Given the description of an element on the screen output the (x, y) to click on. 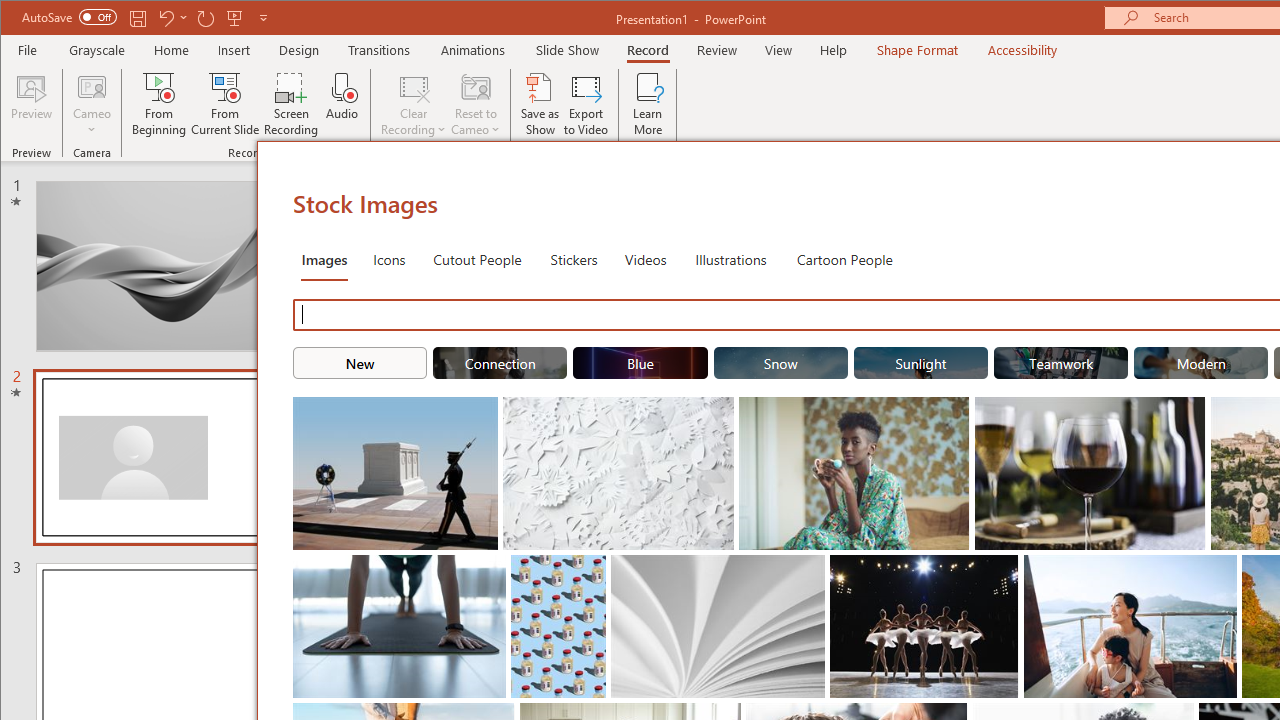
"Snow" Stock Images. (780, 362)
Export to Video (585, 104)
"Connection" Stock Images. (499, 362)
Icons (388, 258)
Screen Recording (291, 104)
Cartoon People (844, 258)
"Sunlight" Stock Images. (920, 362)
Grayscale (97, 50)
